Given the description of an element on the screen output the (x, y) to click on. 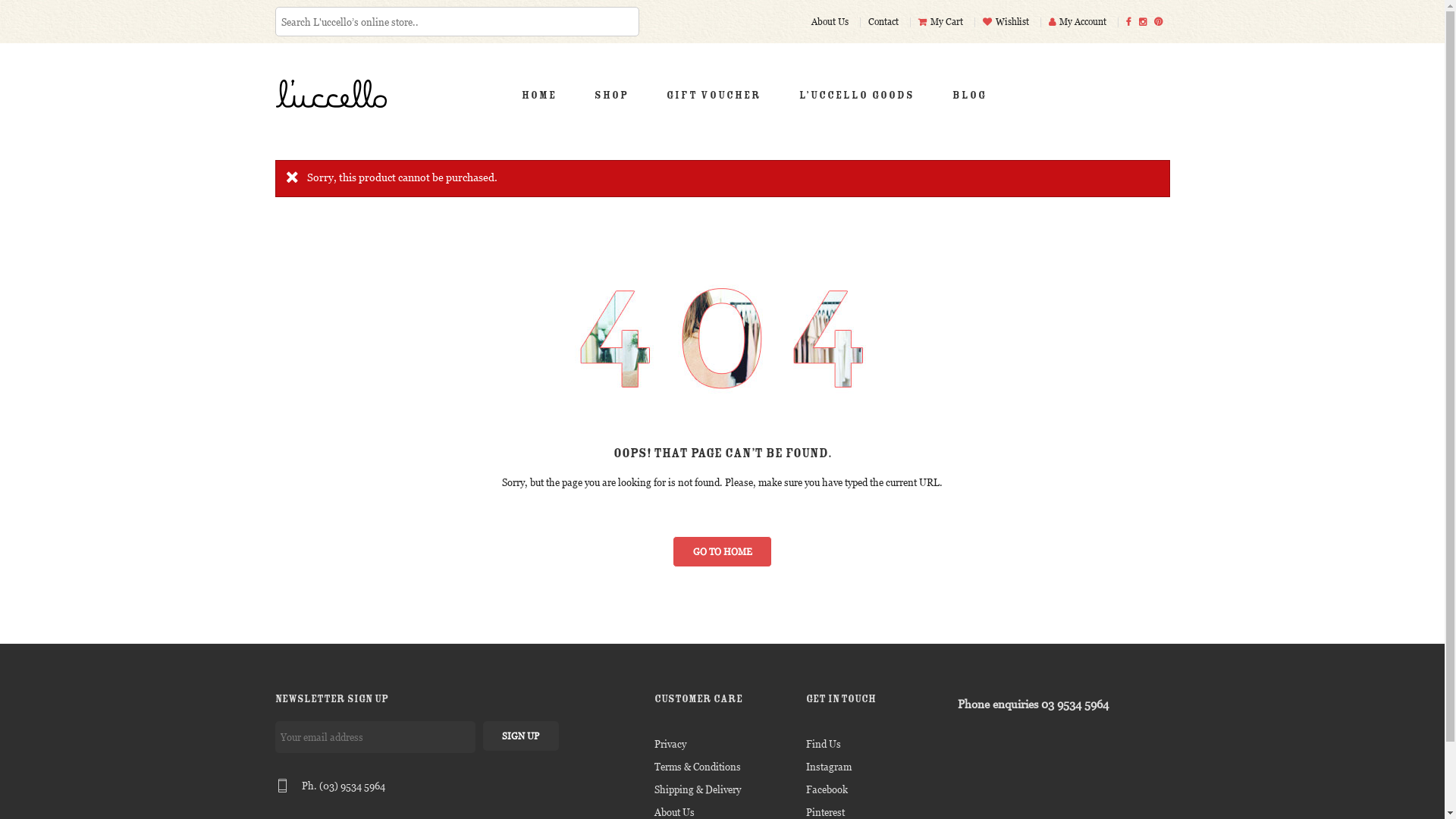
Sign up Element type: text (520, 735)
SHOP Element type: text (610, 97)
Wishlist Element type: text (1007, 21)
BLOG Element type: text (968, 97)
<i class="fa fa-pinterest"></i> Element type: hover (1162, 21)
Privacy Element type: text (669, 743)
Find Us Element type: text (822, 743)
Instagram Element type: text (827, 766)
About Us Element type: text (831, 21)
Contact Element type: text (884, 21)
GIFT VOUCHER Element type: text (713, 97)
Facebook Element type: text (826, 789)
HOME Element type: text (538, 97)
Terms & Conditions Element type: text (696, 766)
search Element type: text (39, 15)
<i class="fa fa-facebook"></i> Element type: hover (1131, 21)
L'uccello - Vintage Haberdashery & Fancy Goods Element type: hover (342, 92)
Shipping & Delivery Element type: text (696, 789)
GO TO HOME Element type: text (722, 551)
My Account Element type: text (1078, 21)
<i class="fa fa-instagram"></i> Element type: hover (1146, 21)
My Cart Element type: text (941, 21)
